Given the description of an element on the screen output the (x, y) to click on. 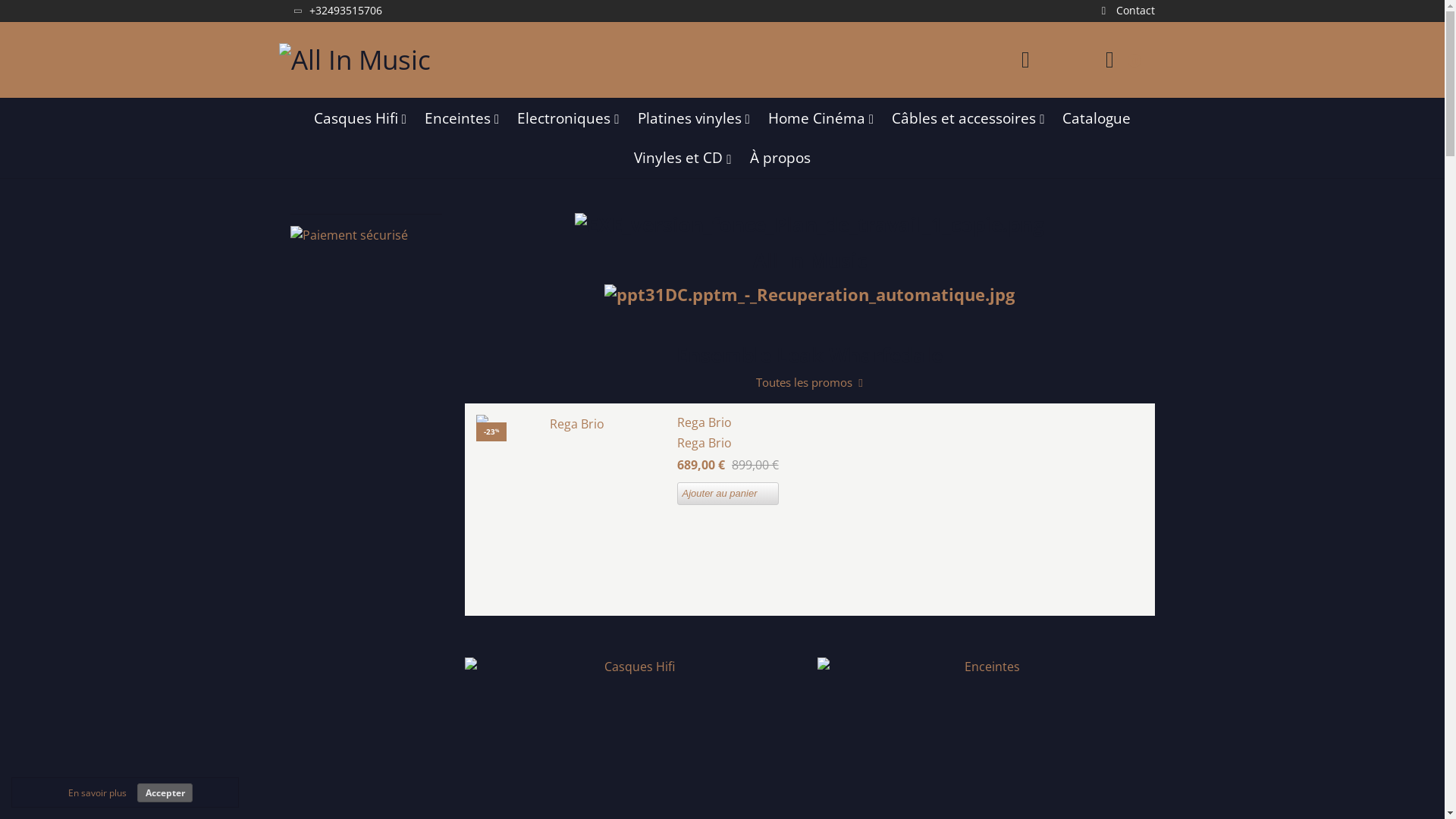
Mon compte Element type: text (1024, 59)
Ajouter au panier Element type: text (727, 493)
Rega Brio Element type: hover (570, 509)
Rega Brio Element type: text (909, 421)
Contact Element type: text (1125, 10)
En savoir plus Element type: text (97, 793)
Casques Hifi Element type: text (359, 118)
Catalogue Element type: text (1096, 118)
Platines vinyles Element type: text (692, 118)
Toutes les promos Element type: text (809, 382)
Enceintes Element type: text (461, 118)
Vinyles et CD Element type: text (682, 158)
Accepter Element type: text (164, 792)
Electroniques Element type: text (567, 118)
Soulnote a1 Element type: hover (809, 294)
All In Music Element type: hover (354, 59)
+32493515706 Element type: text (336, 10)
-23% Element type: text (570, 509)
